Given the description of an element on the screen output the (x, y) to click on. 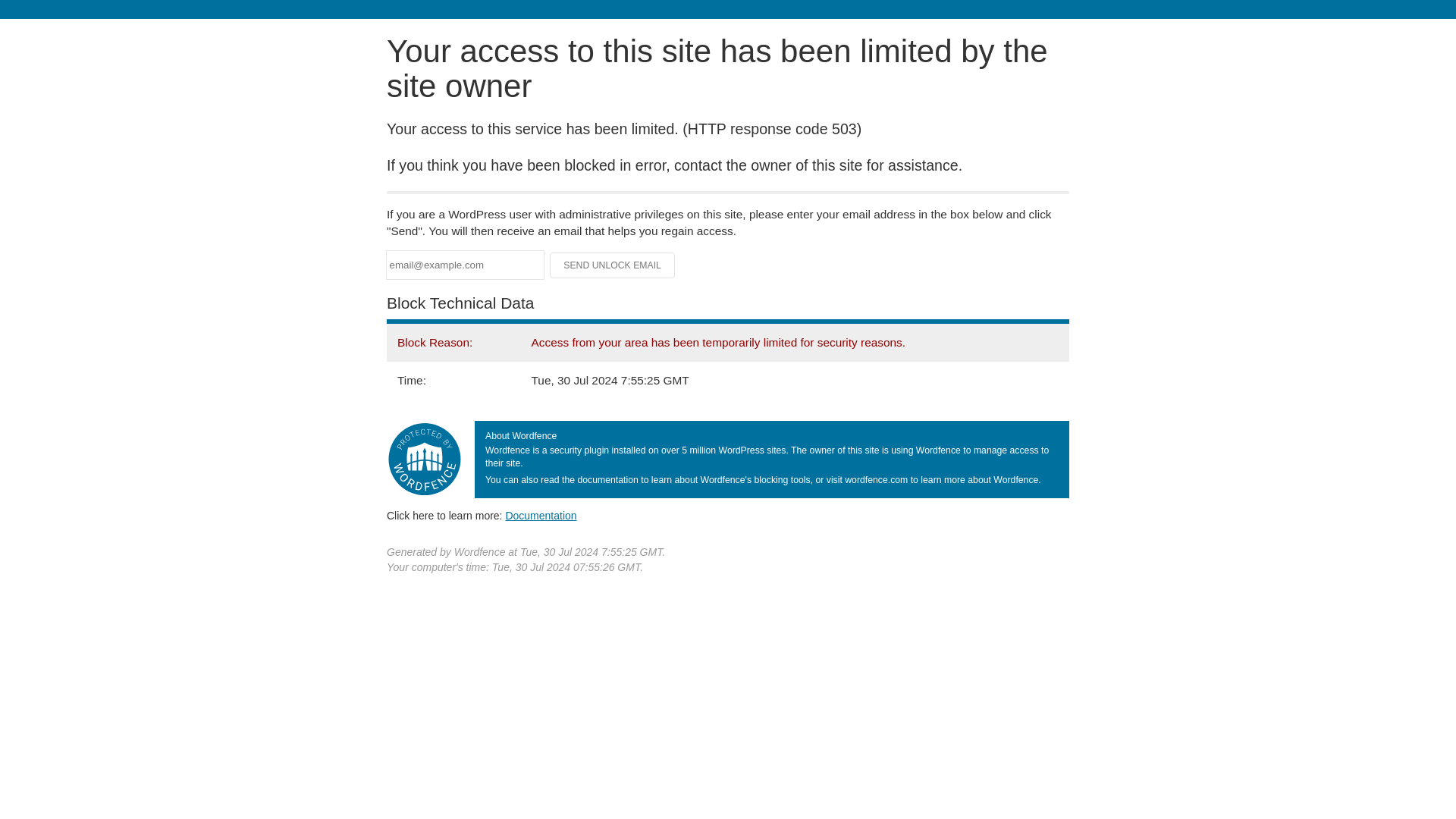
Send Unlock Email (612, 265)
Send Unlock Email (612, 265)
Documentation (540, 515)
